Given the description of an element on the screen output the (x, y) to click on. 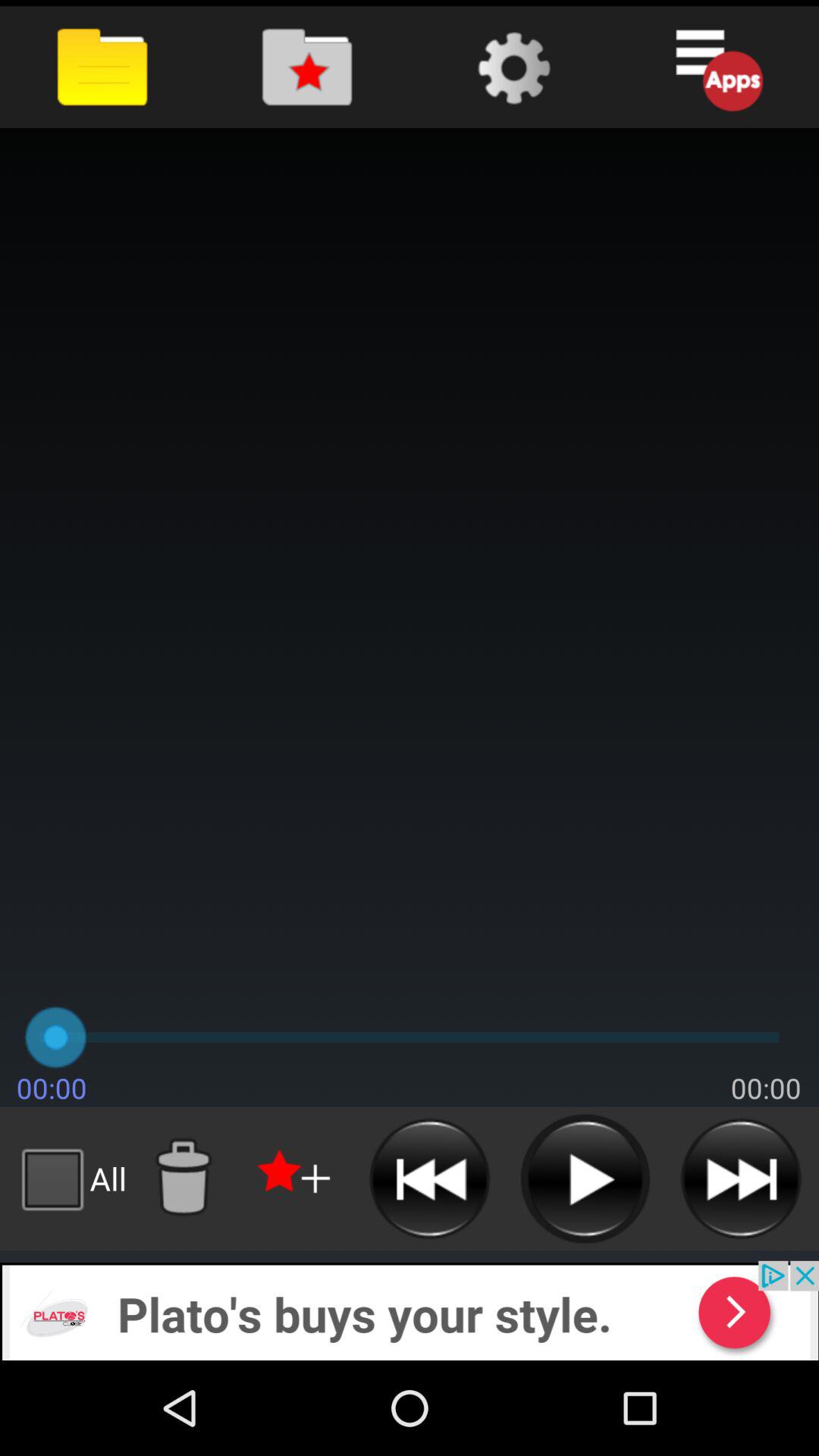
view settings (511, 66)
